Given the description of an element on the screen output the (x, y) to click on. 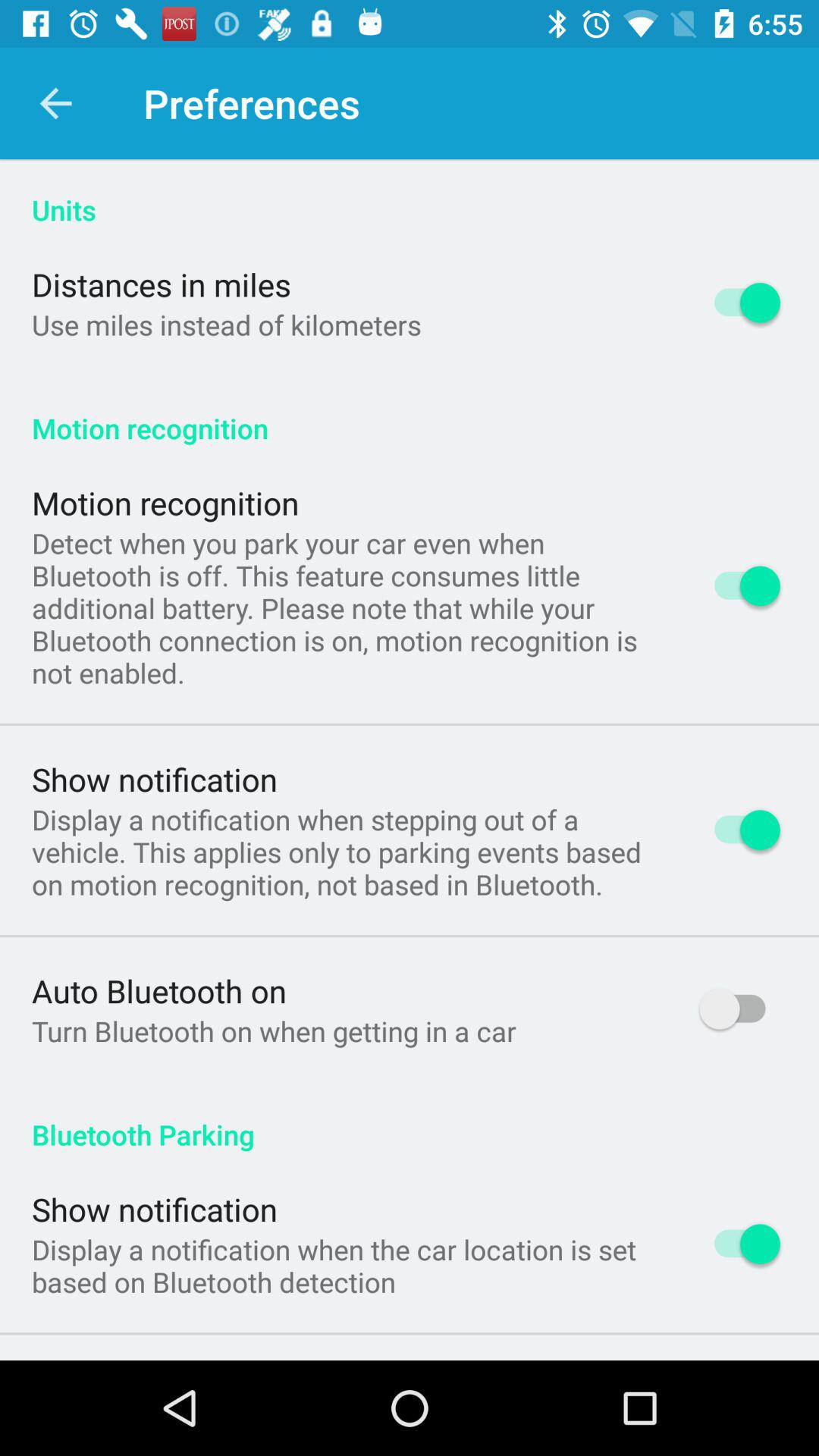
turn off app below units app (161, 283)
